Given the description of an element on the screen output the (x, y) to click on. 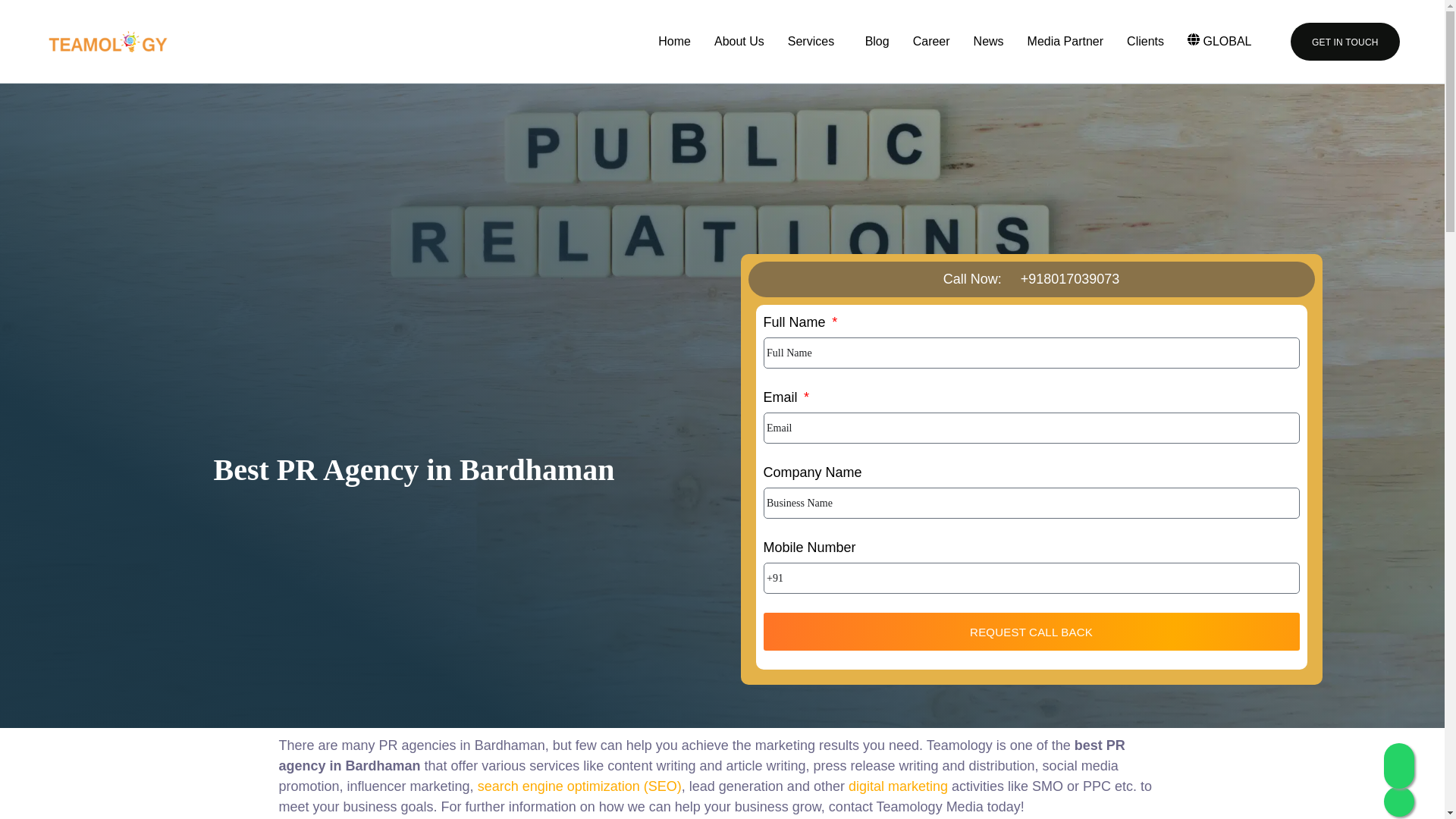
digital marketing (897, 785)
Media Partner (1065, 41)
REQUEST CALL BACK (1030, 631)
GLOBAL (1223, 41)
teamology logo (107, 41)
GET IN TOUCH (1345, 41)
